Given the description of an element on the screen output the (x, y) to click on. 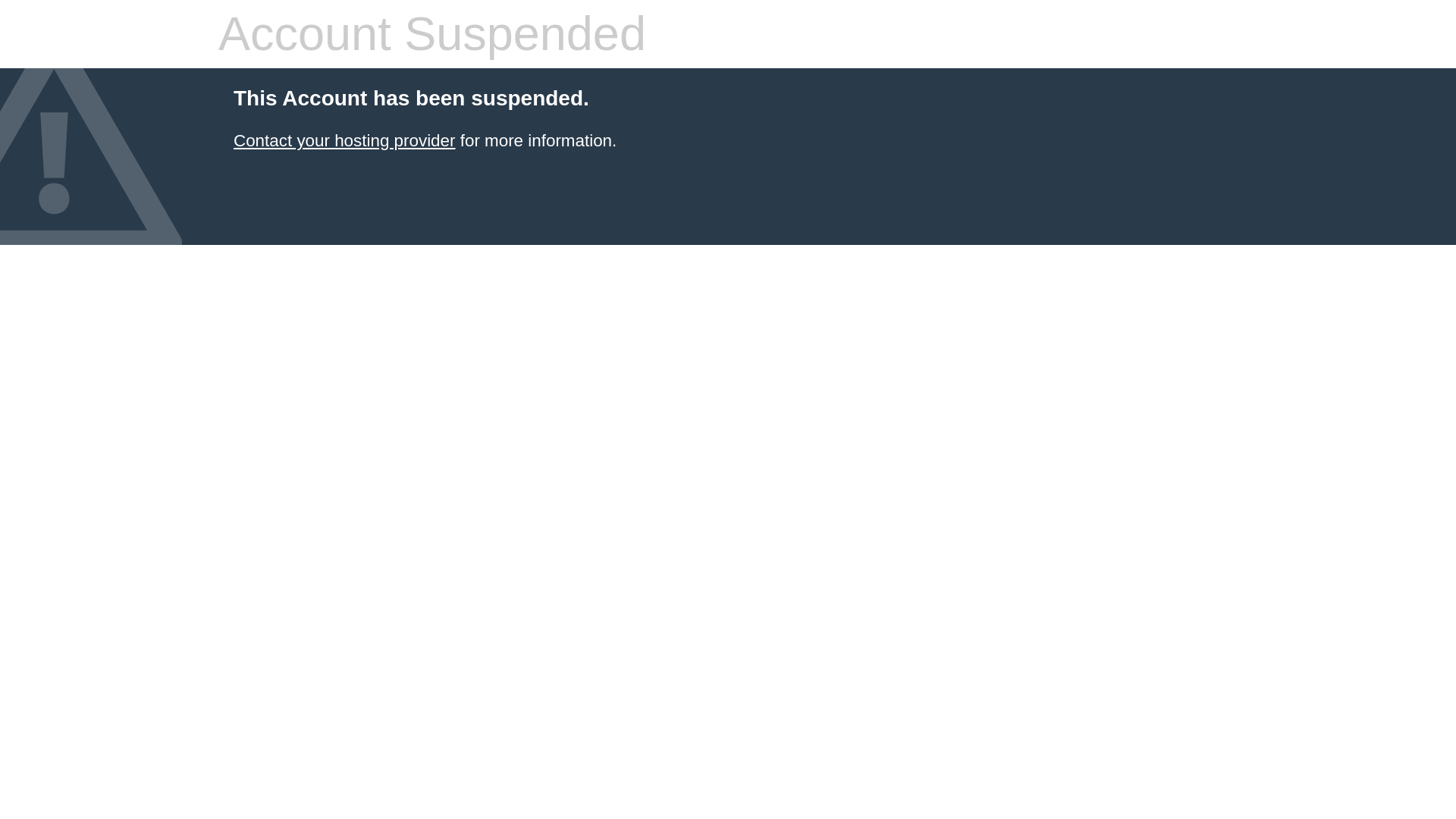
Contact your hosting provider (343, 140)
